Given the description of an element on the screen output the (x, y) to click on. 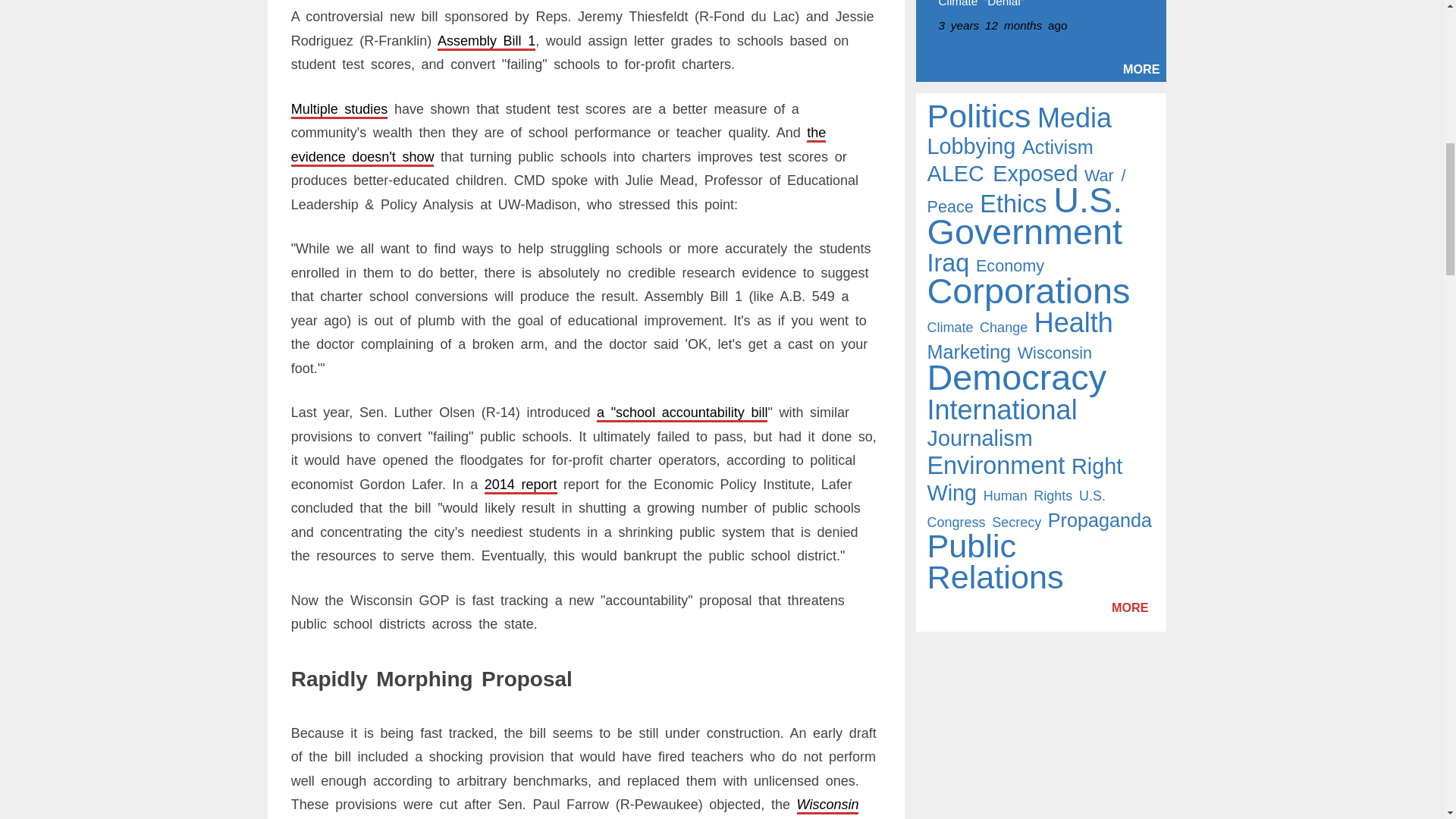
Wisconsin State Journal reports (575, 807)
Assembly Bill 1 (486, 40)
the evidence doesn't show (559, 144)
Multiple studies (339, 109)
a "school accountability bill (681, 412)
2014 report (520, 484)
